Given the description of an element on the screen output the (x, y) to click on. 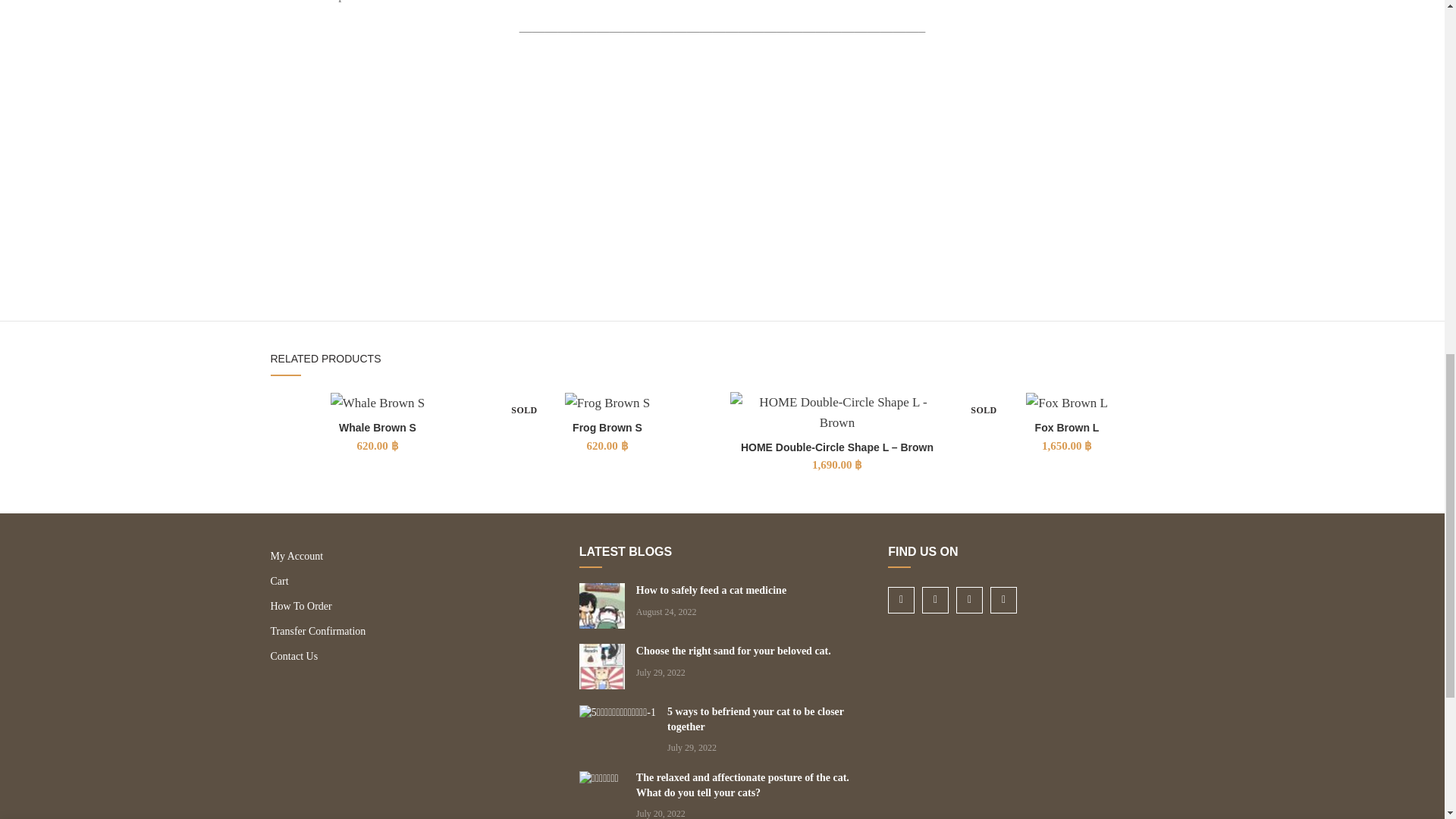
Permalink to How to safely feed a cat medicine (711, 590)
KAFBO "Home" Collection by KAFBO (459, 162)
Permalink to Choose the right sand for your beloved cat. (733, 650)
